Given the description of an element on the screen output the (x, y) to click on. 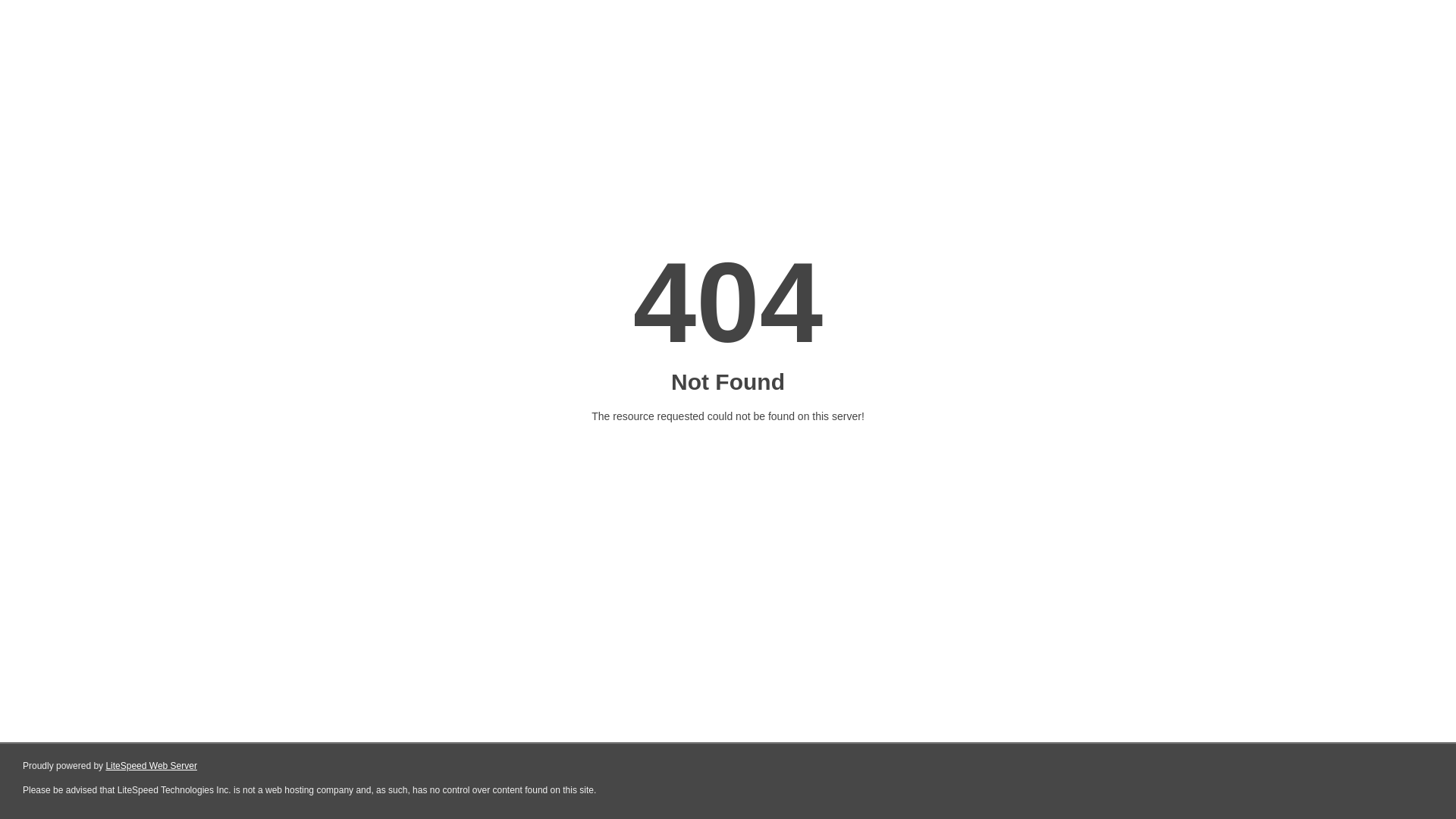
LiteSpeed Web Server Element type: text (151, 765)
